Given the description of an element on the screen output the (x, y) to click on. 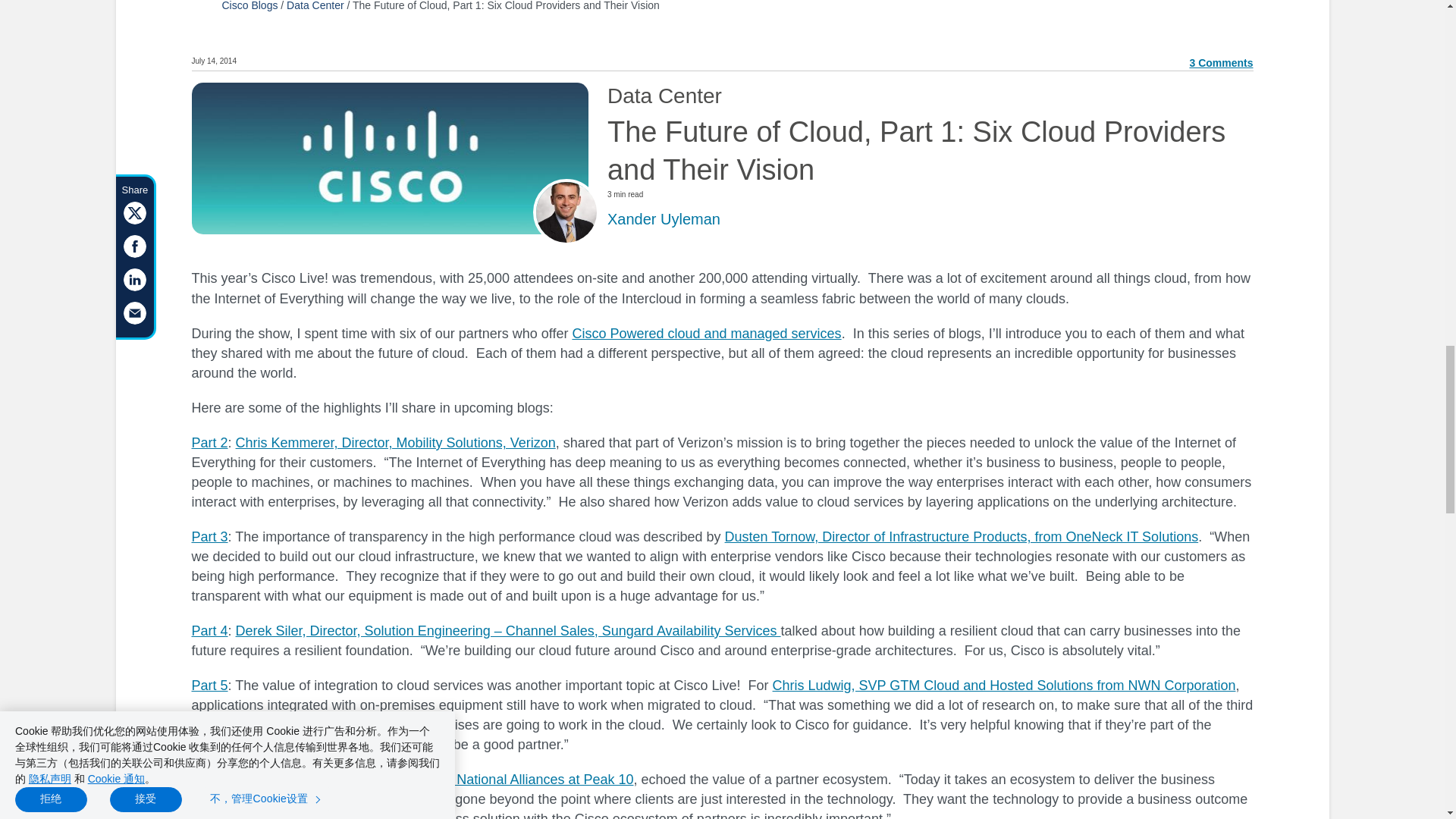
Part 5 (208, 685)
Part 6 (208, 779)
Posts by Xander Uyleman (663, 218)
Cisco Powered cloud and managed services (706, 333)
Part 2 (208, 442)
Cisco Blogs (249, 5)
Chris Kemmerer, Director, Mobility Solutions, Verizon (395, 442)
Part 4 (208, 630)
Part 3 (208, 536)
Data Center (314, 5)
Xander Uyleman (663, 218)
